Given the description of an element on the screen output the (x, y) to click on. 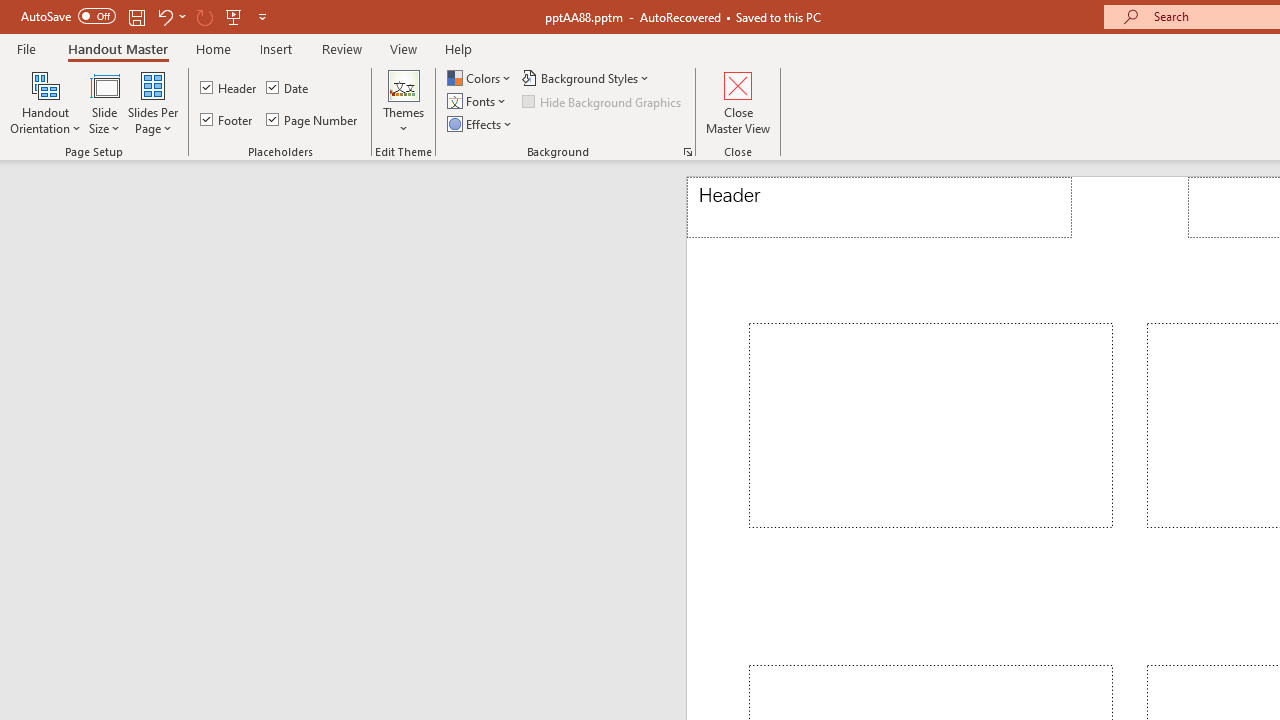
Header (229, 87)
Page Number (312, 119)
Handout Orientation (45, 102)
Slides Per Page (152, 102)
Colors (481, 78)
Date (288, 87)
Handout Master (117, 48)
